Given the description of an element on the screen output the (x, y) to click on. 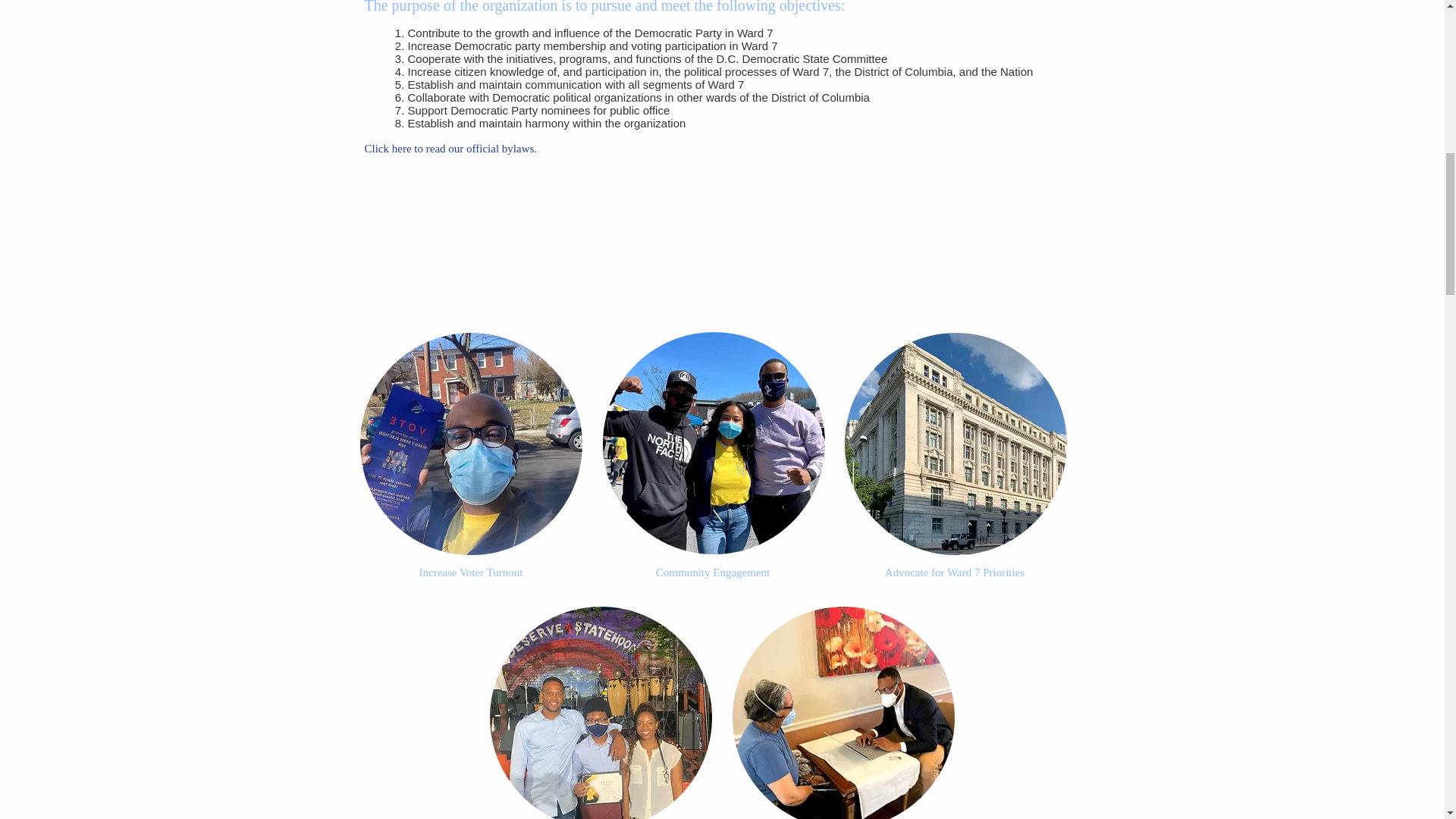
Click here to read our official bylaws. (450, 148)
Increase Voter Turnout (470, 571)
Advocate for Ward 7 Priorities (955, 571)
Community Engagement (713, 571)
